Given the description of an element on the screen output the (x, y) to click on. 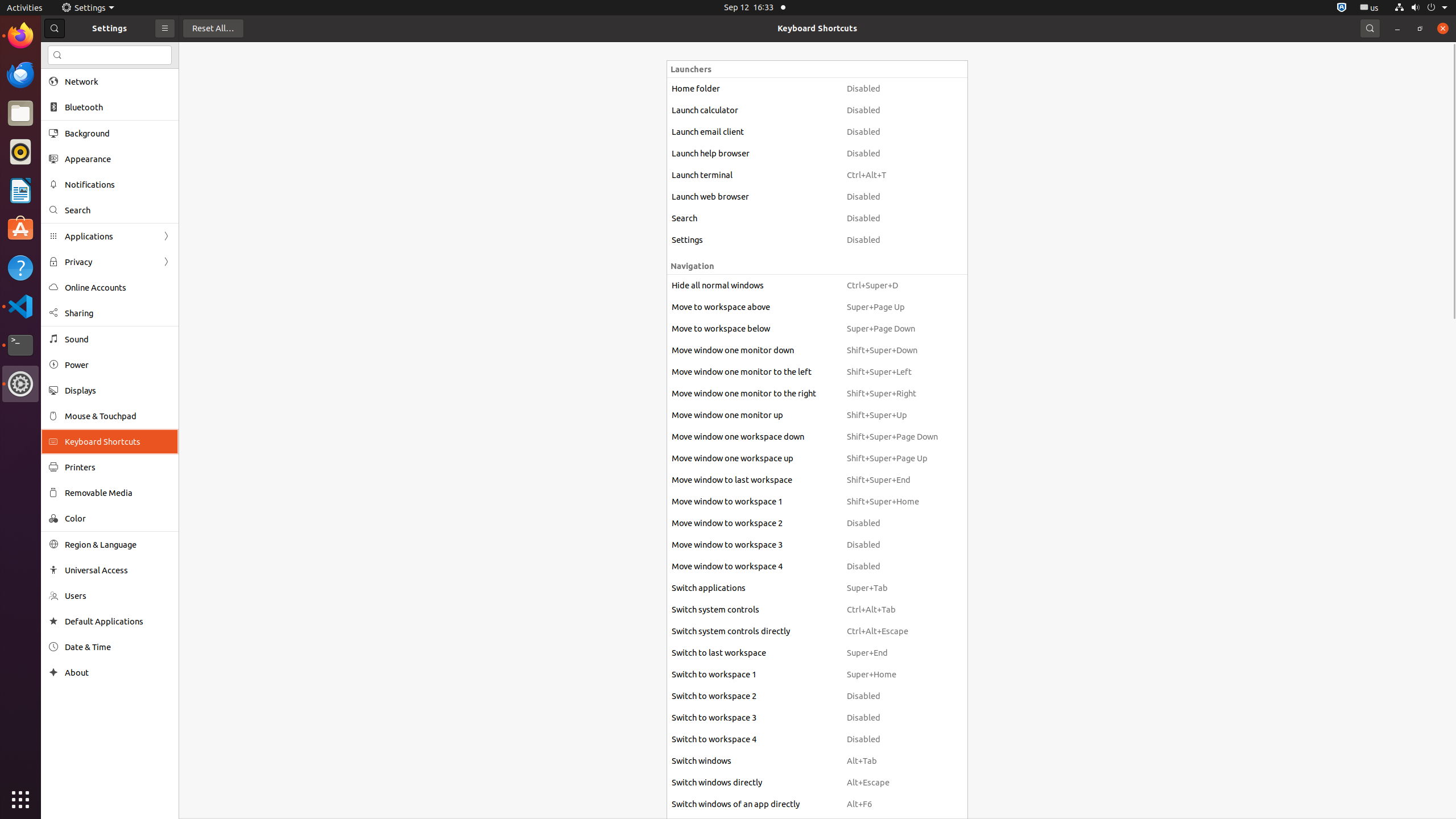
Move window to workspace 1 Element type: label (753, 501)
Move window to workspace 3 Element type: label (753, 544)
Ctrl+Alt+Tab Element type: label (891, 609)
Move window one monitor to the left Element type: label (753, 371)
Power Element type: label (117, 364)
